Given the description of an element on the screen output the (x, y) to click on. 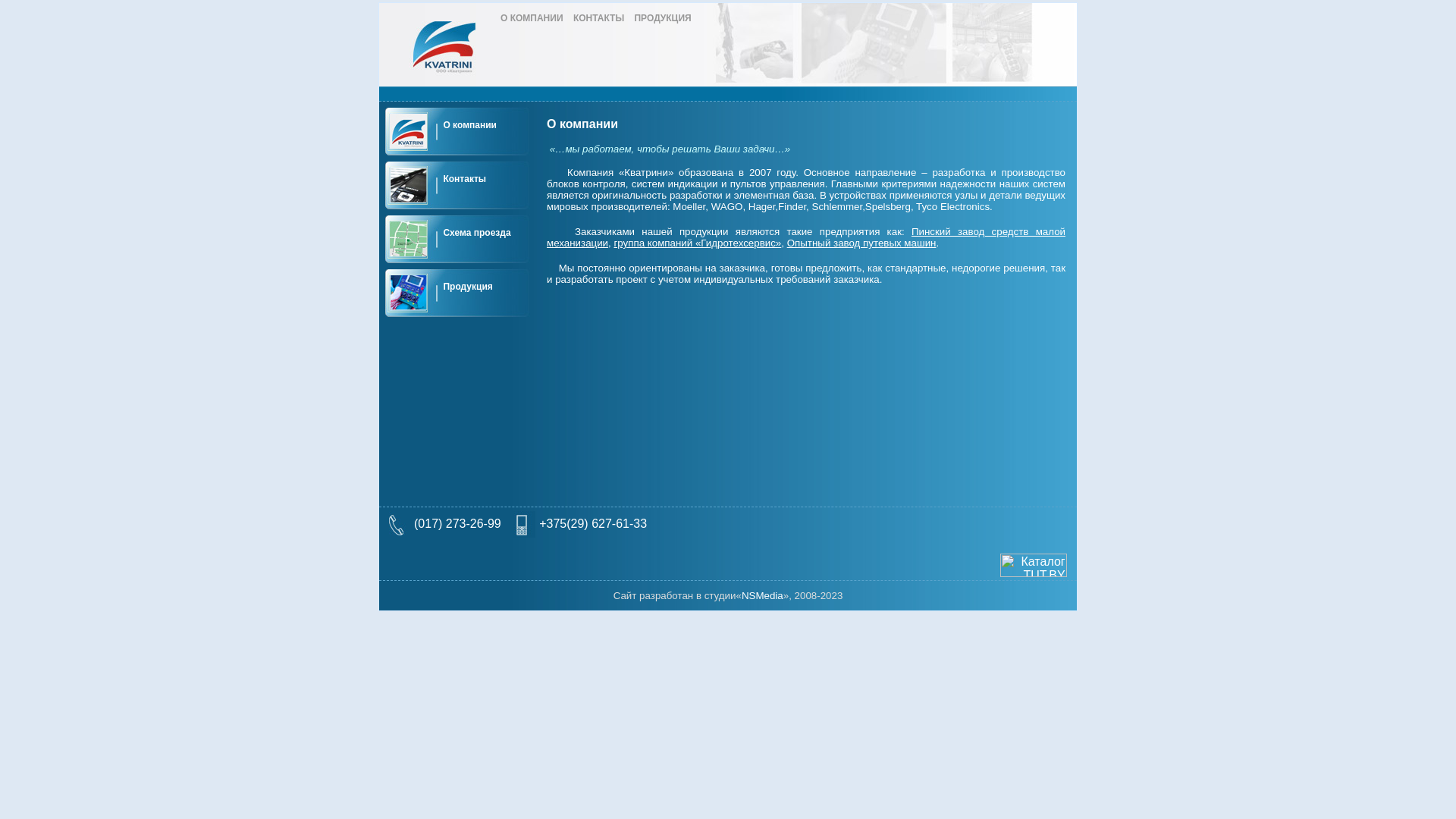
NSMedia Element type: text (762, 595)
